Given the description of an element on the screen output the (x, y) to click on. 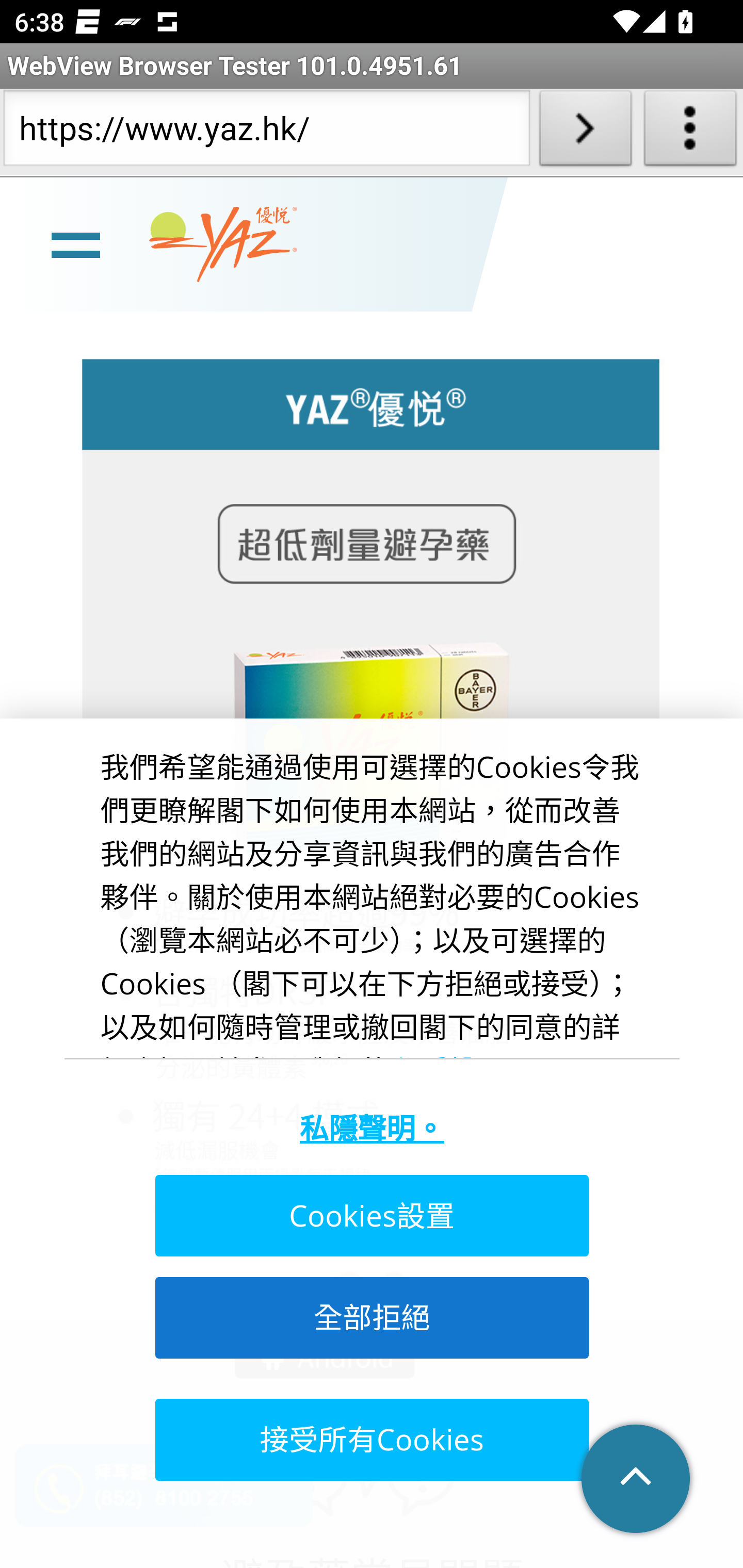
https://www.yaz.hk/ (266, 132)
Load URL (585, 132)
About WebView (690, 132)
www.yaz (222, 244)
line Toggle burger menu (75, 245)
slide 1 (371, 795)
Cookies設置 (370, 1217)
全部拒絕 (370, 1318)
接受所有Cookies (370, 1439)
 (636, 1480)
